Given the description of an element on the screen output the (x, y) to click on. 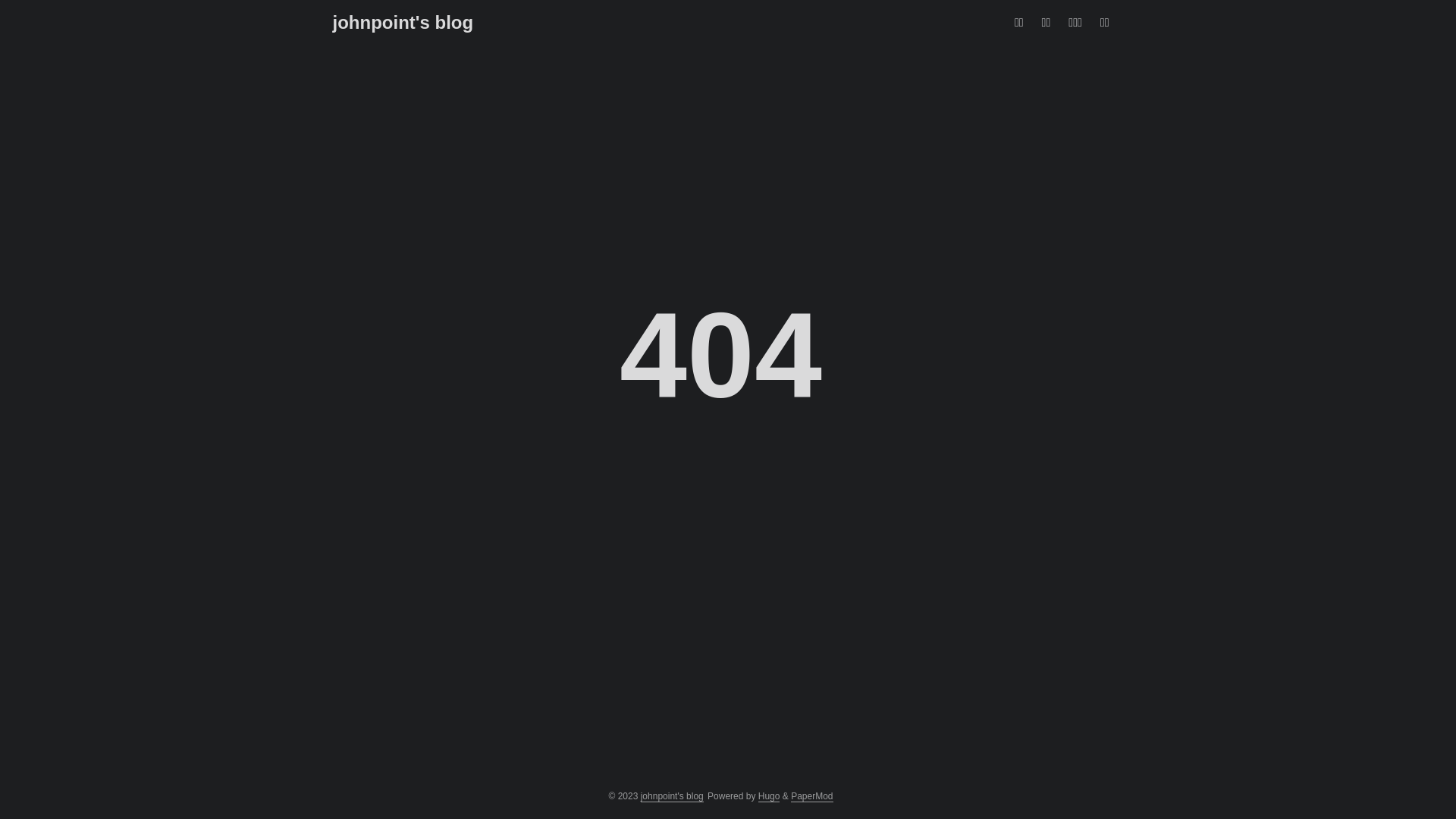
johnpoint's blog Element type: text (402, 22)
PaperMod Element type: text (811, 796)
Hugo Element type: text (769, 796)
johnpoint's blog Element type: text (671, 796)
